Given the description of an element on the screen output the (x, y) to click on. 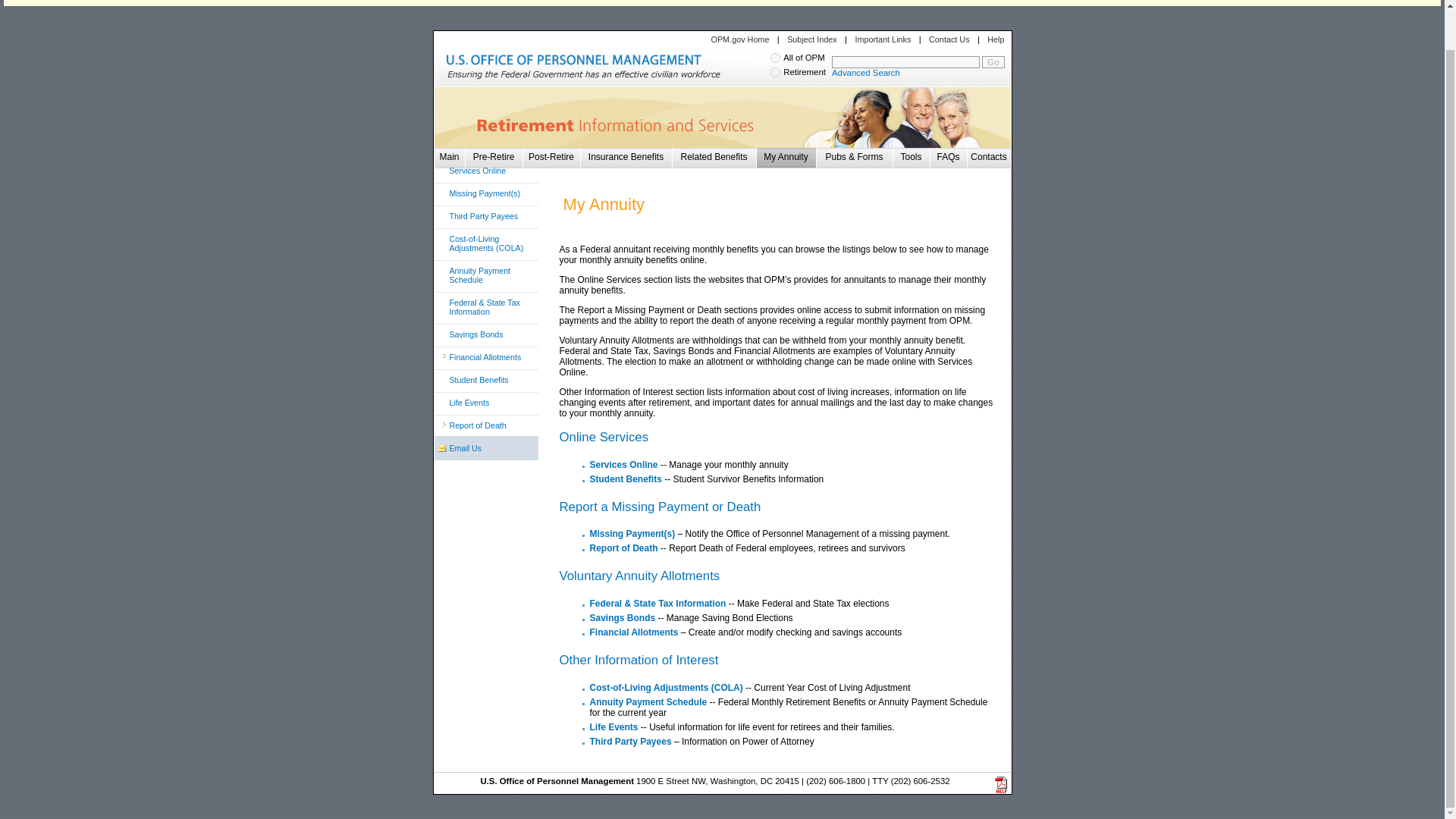
Life Events (489, 406)
Insurance Benefits (625, 156)
Toggle Node (444, 378)
Toggle Node (444, 423)
Student Benefits (625, 479)
Student Benefits (489, 383)
Email Us (489, 451)
Pre-Retire (493, 156)
Related Benefits (713, 156)
Savings Bonds (489, 338)
Services Online (489, 174)
Advanced Search (865, 71)
Search the OPM Site (905, 61)
Important Links (882, 39)
Toggle Node (444, 333)
